Given the description of an element on the screen output the (x, y) to click on. 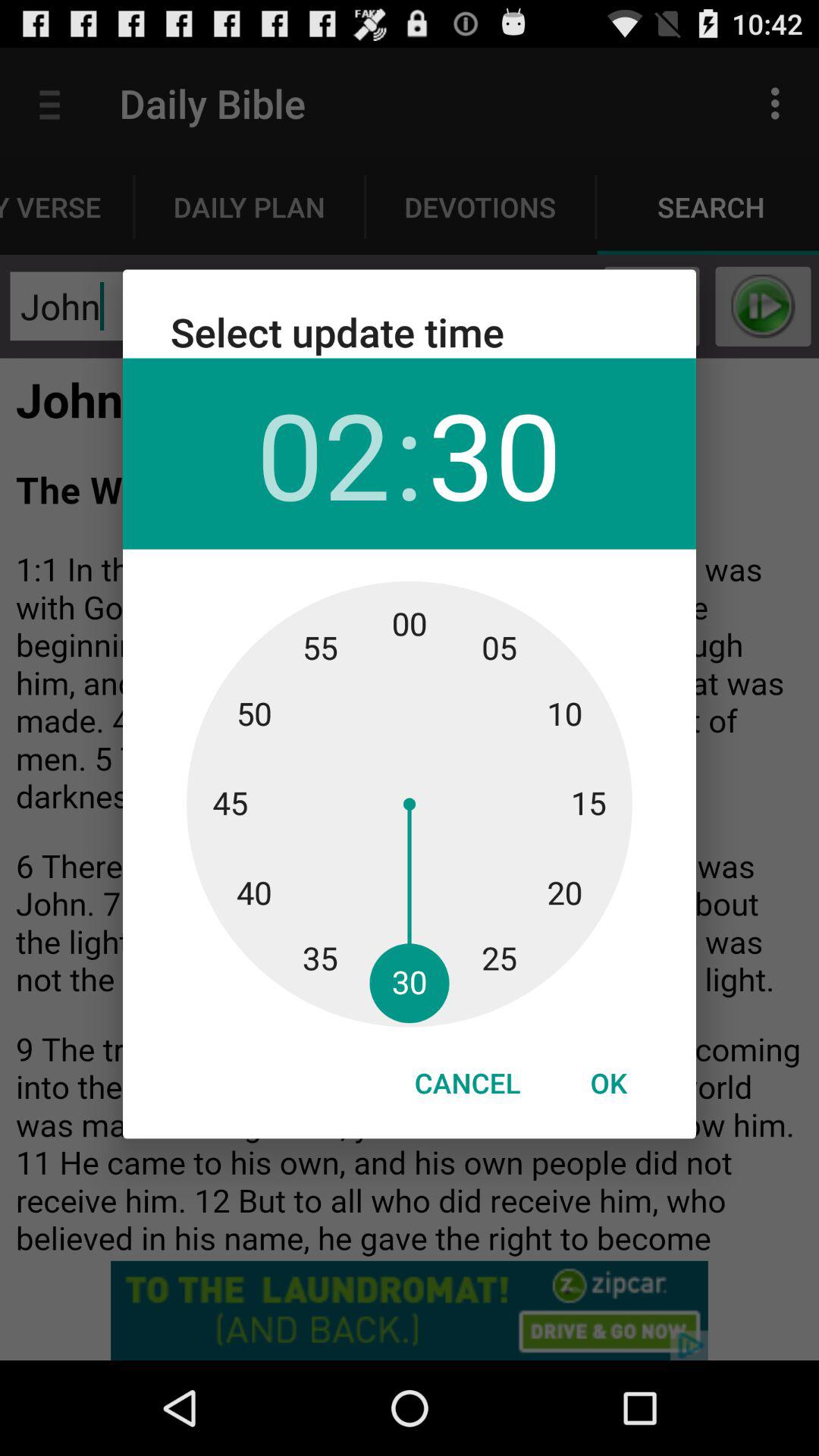
tap 30 (494, 453)
